Given the description of an element on the screen output the (x, y) to click on. 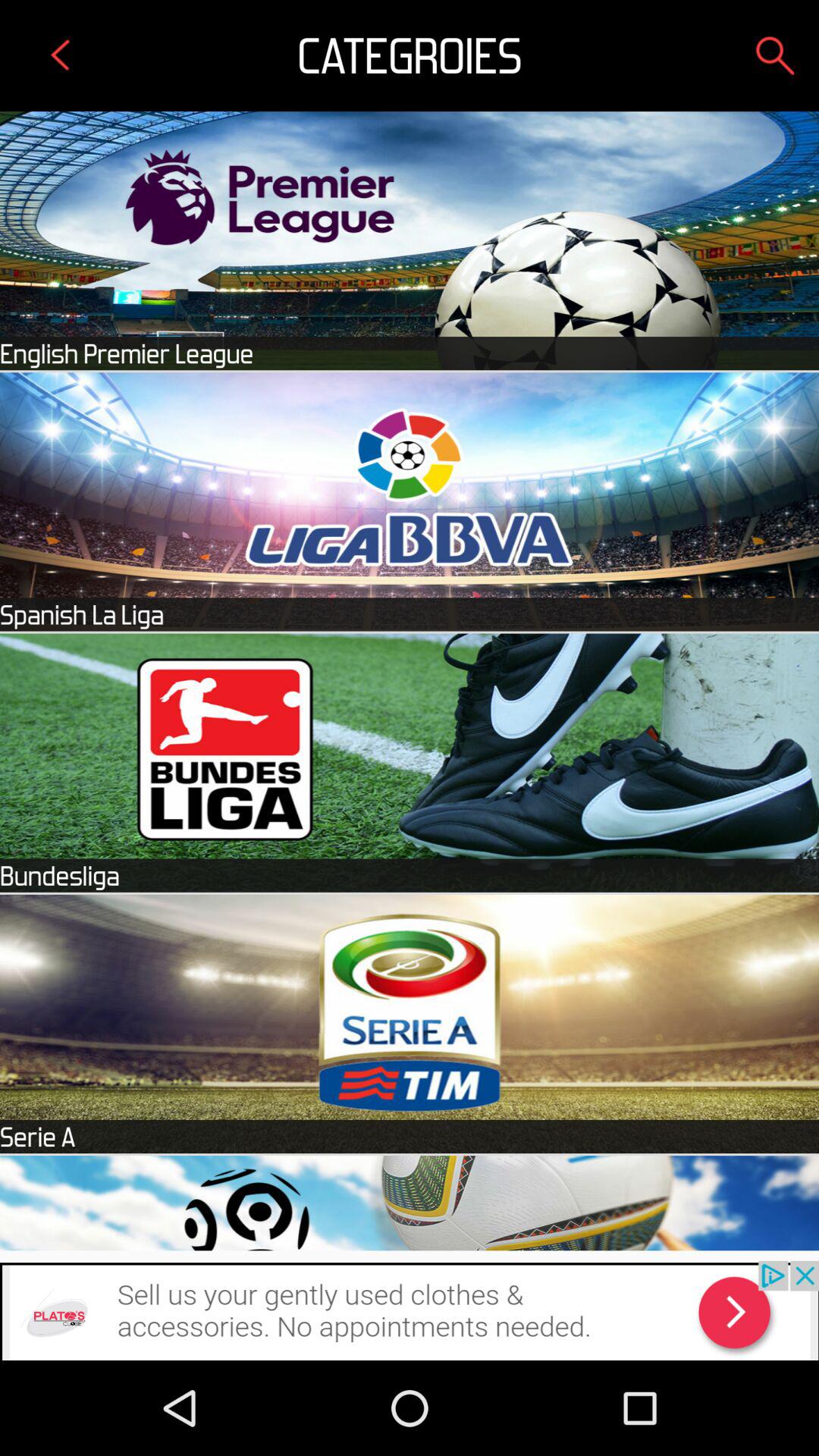
search (775, 55)
